Given the description of an element on the screen output the (x, y) to click on. 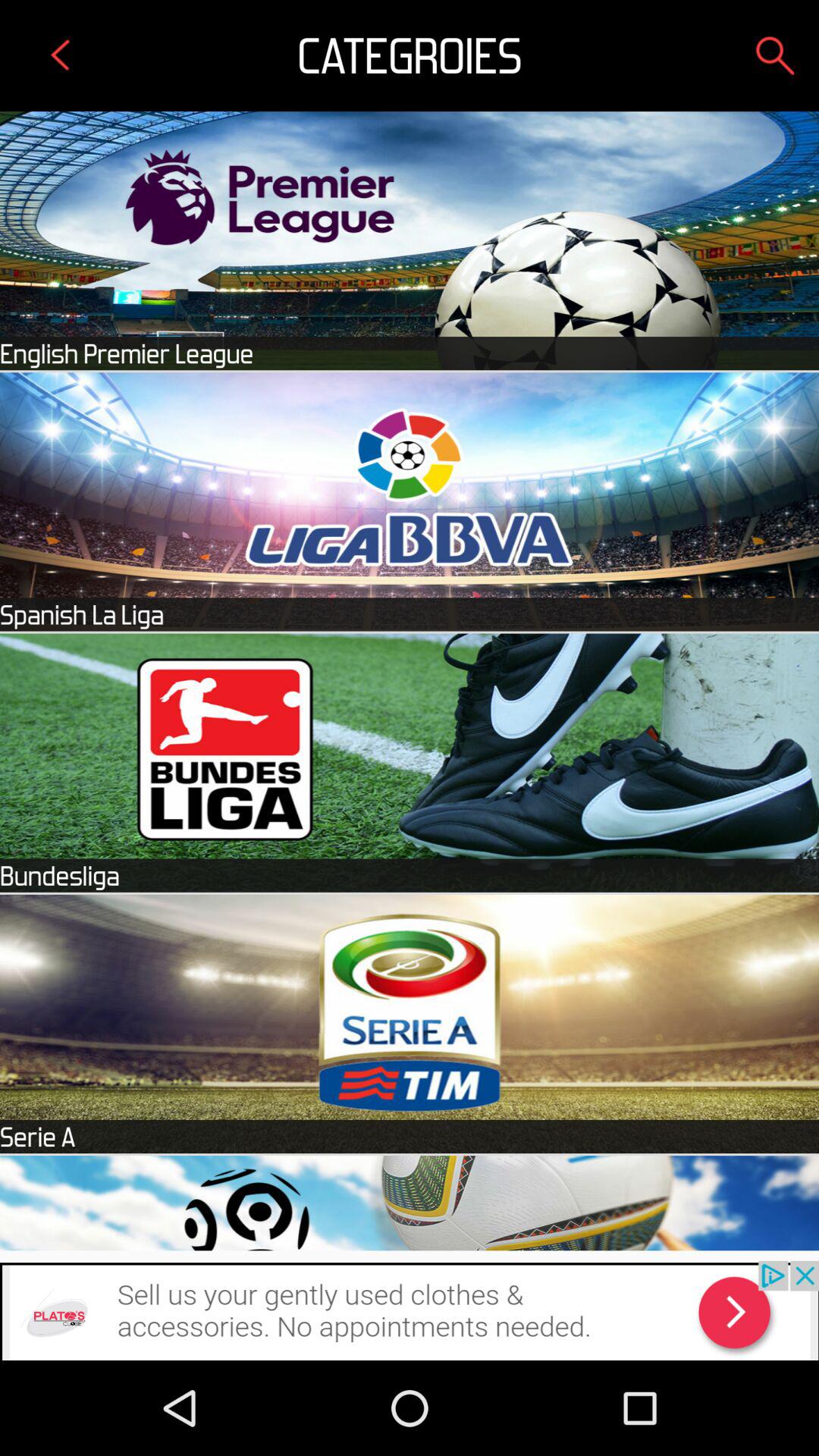
search (775, 55)
